Given the description of an element on the screen output the (x, y) to click on. 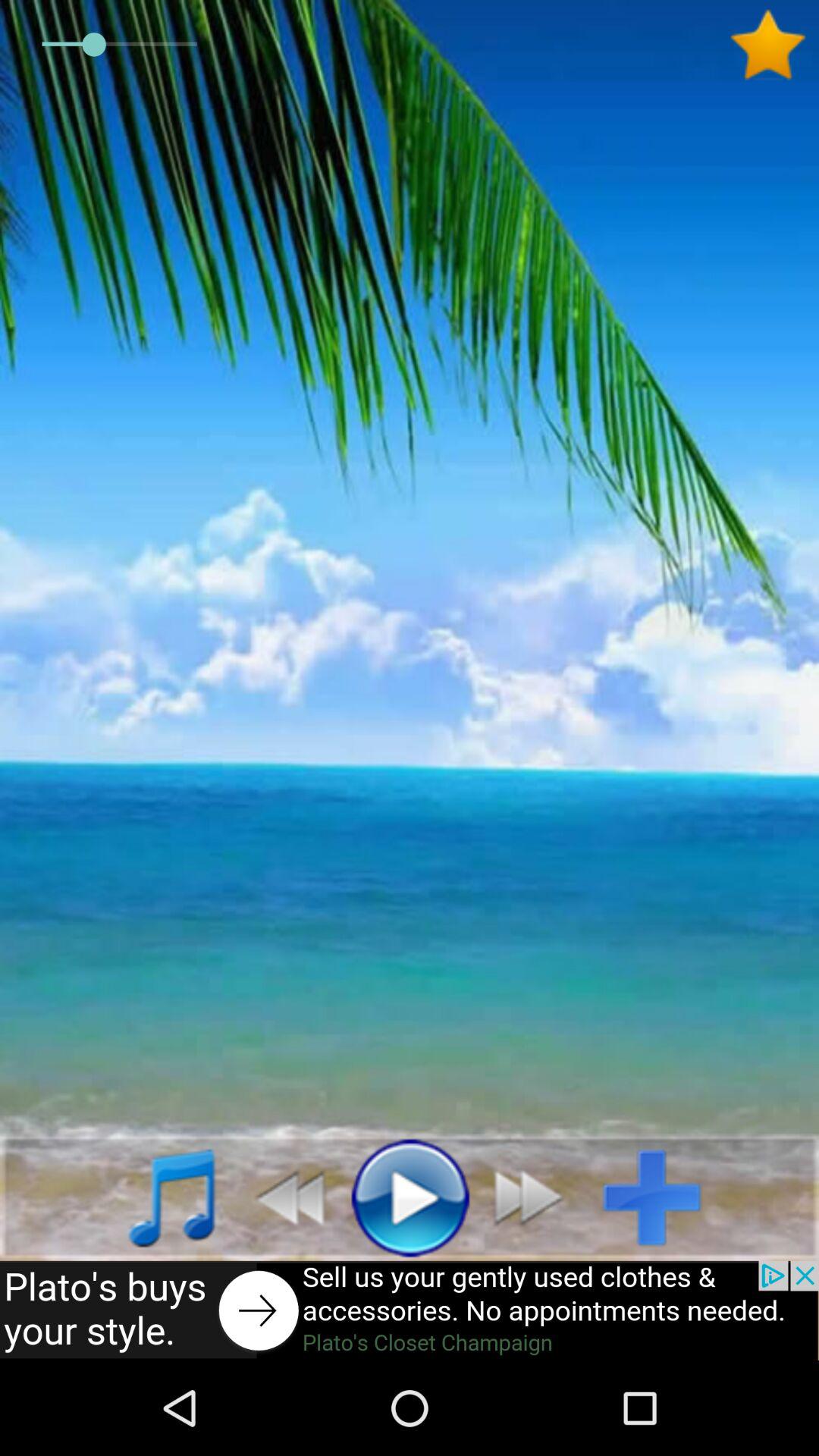
click to add playlist option (664, 1196)
